Given the description of an element on the screen output the (x, y) to click on. 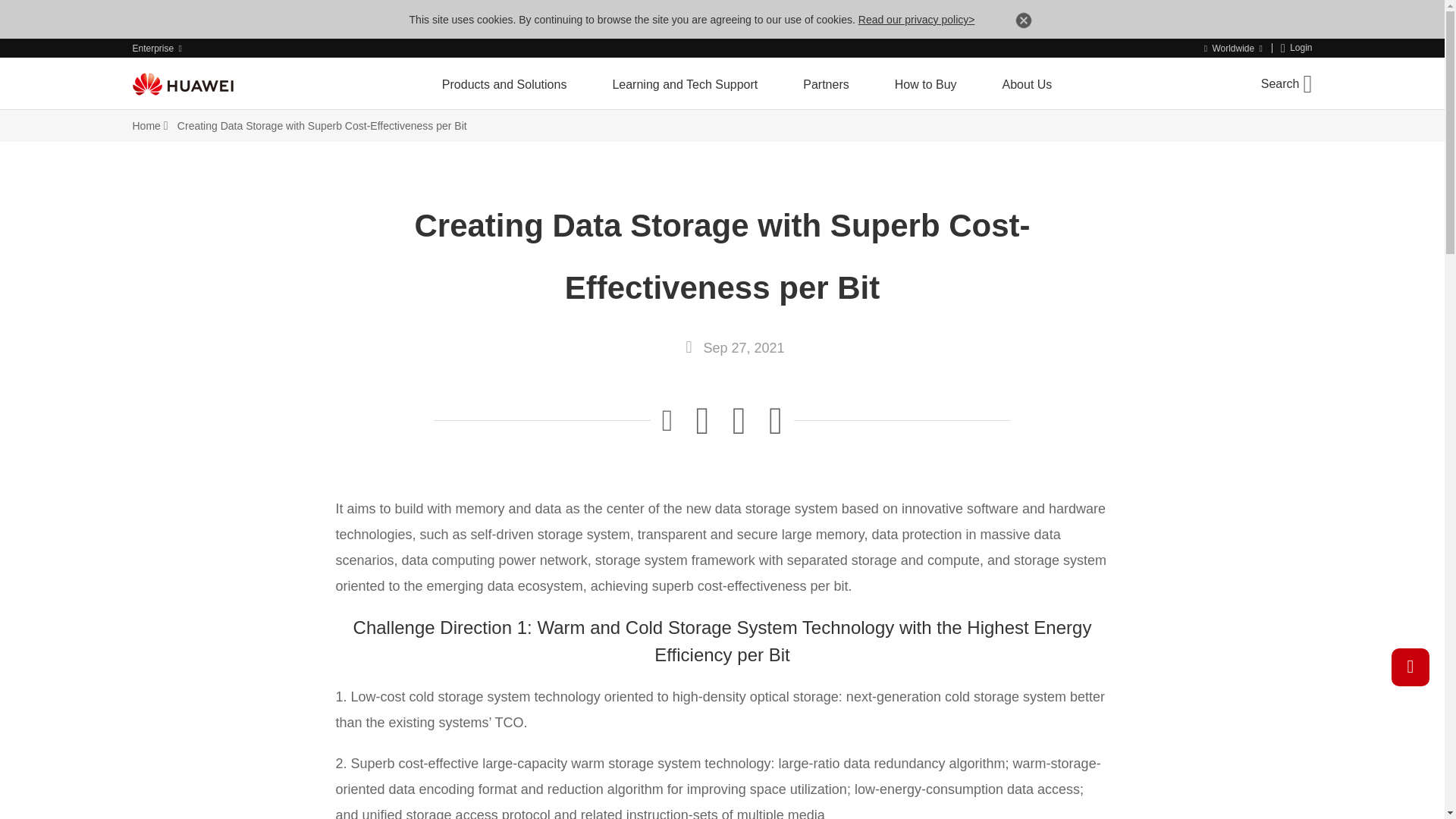
Huawei (182, 83)
Close (1023, 22)
Login (1296, 48)
